Given the description of an element on the screen output the (x, y) to click on. 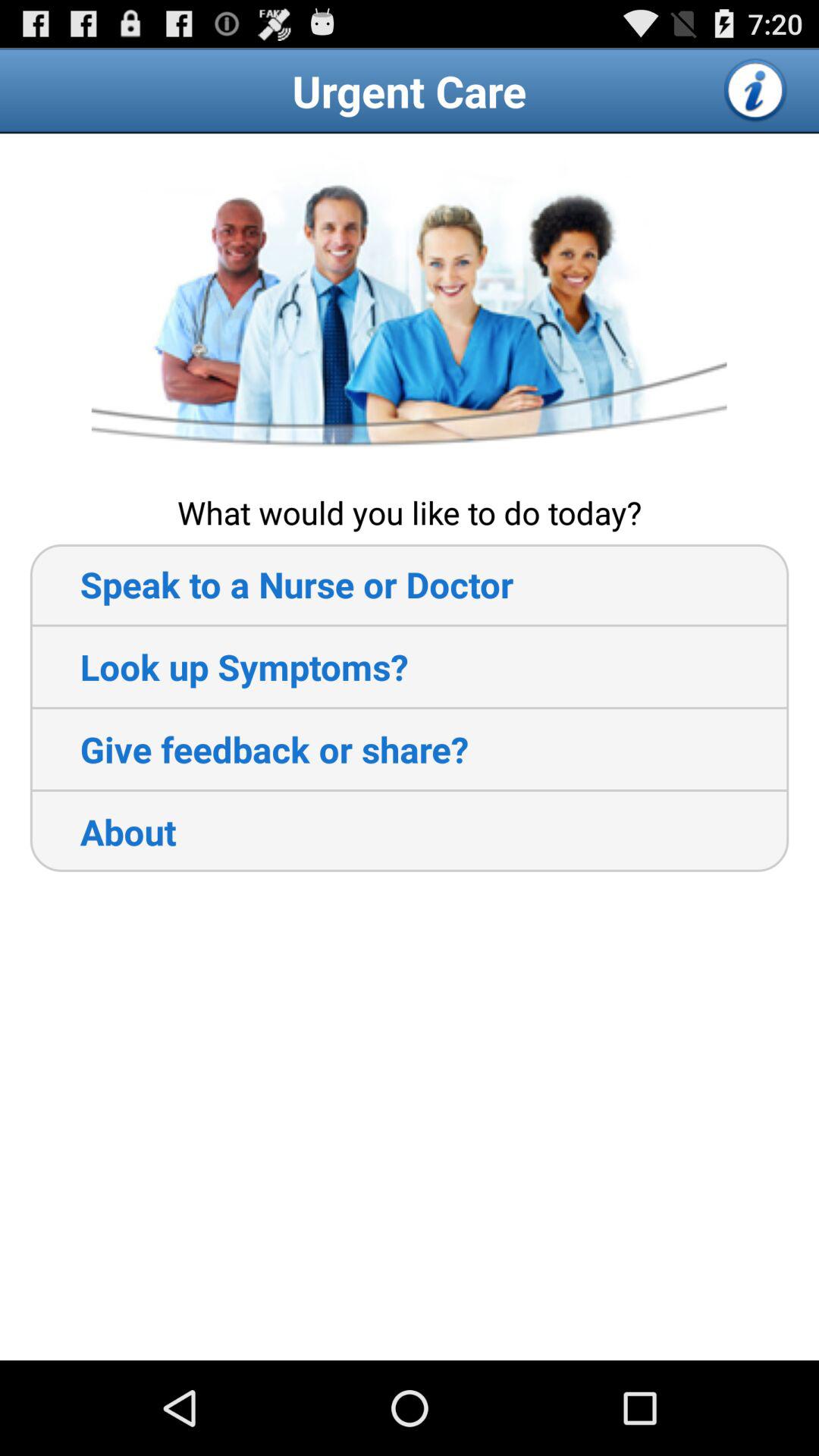
choose app above the about icon (249, 749)
